Given the description of an element on the screen output the (x, y) to click on. 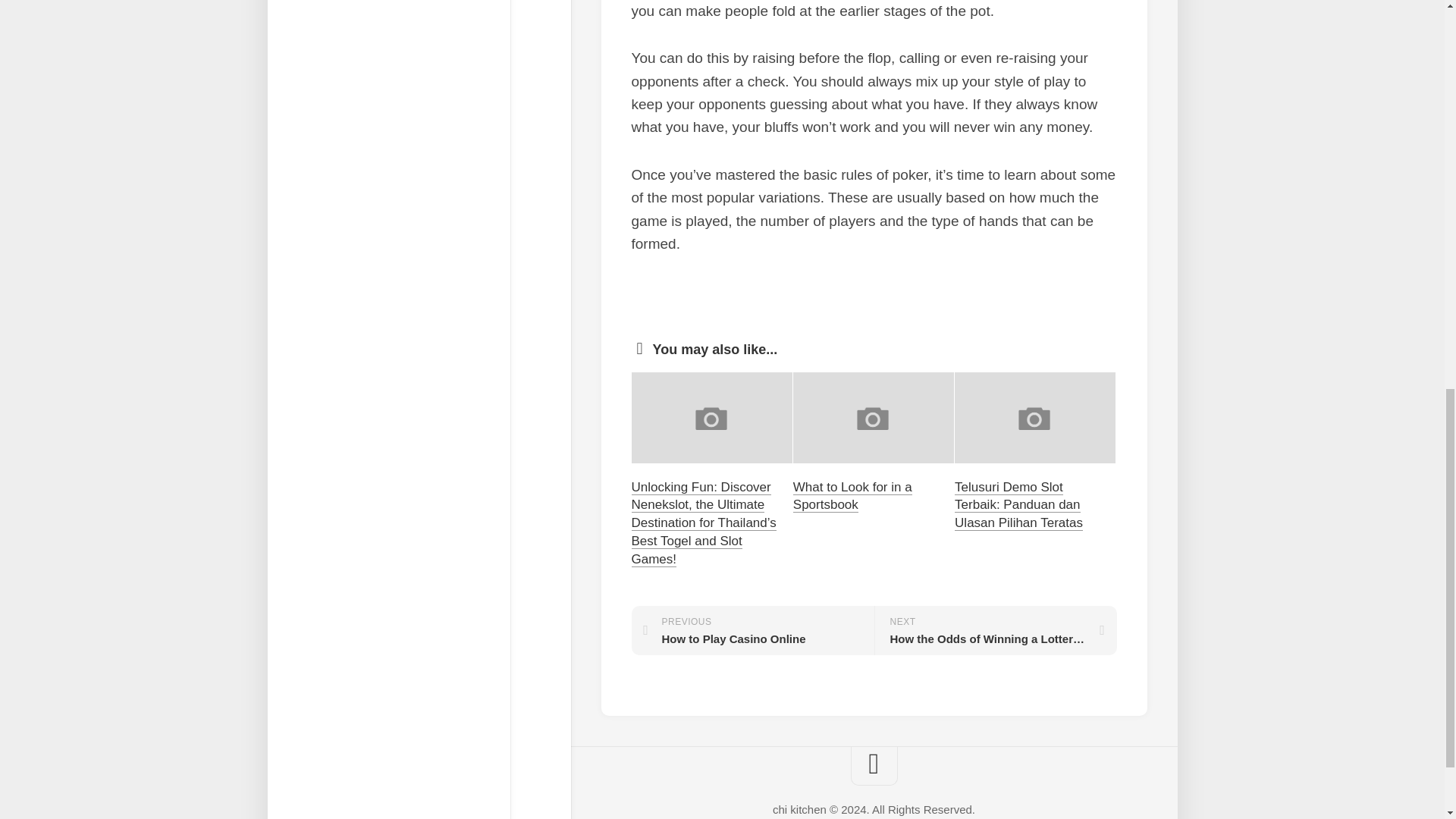
What to Look for in a Sportsbook (751, 630)
